Given the description of an element on the screen output the (x, y) to click on. 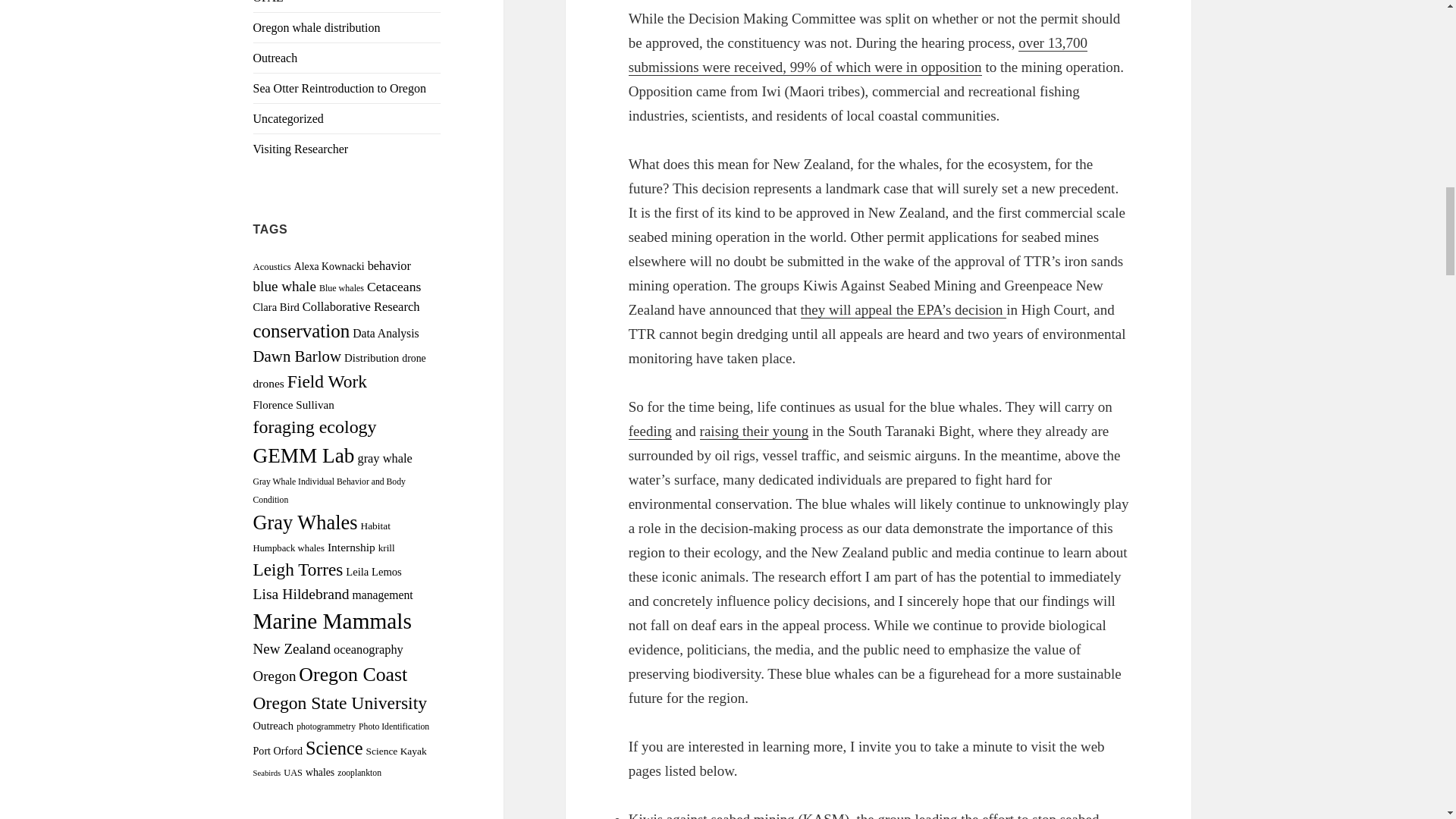
OPAL (268, 2)
Cetaceans (393, 286)
Blue whales (341, 287)
Dawn Barlow (296, 356)
blue whale (284, 286)
Data Analysis (385, 332)
Acoustics (272, 266)
Outreach (275, 57)
Clara Bird (276, 306)
Alexa Kownacki (329, 266)
